Given the description of an element on the screen output the (x, y) to click on. 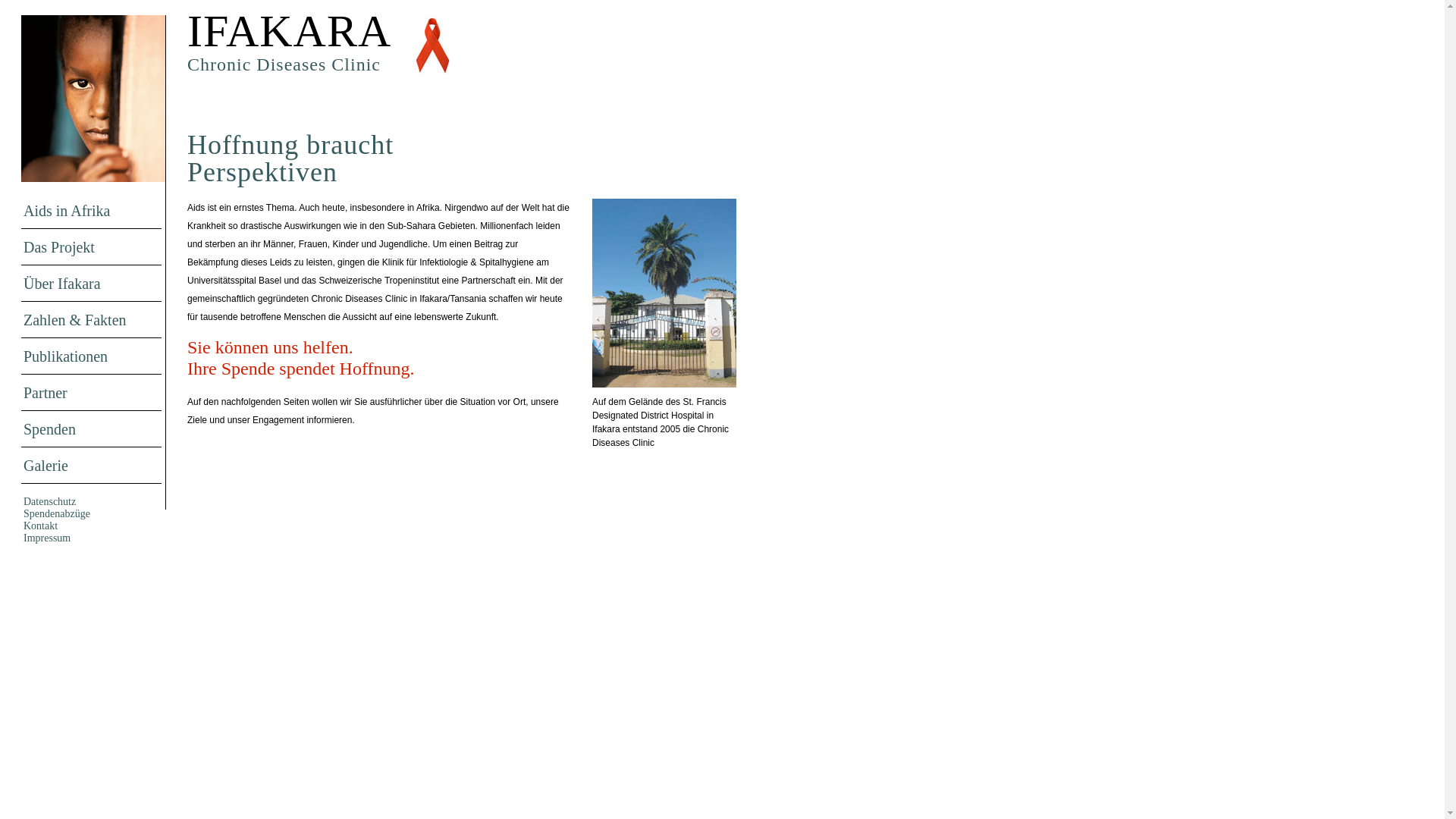
Spenden Element type: text (91, 429)
Home Element type: hover (93, 23)
Publikationen Element type: text (91, 356)
Impressum Element type: text (91, 538)
Partner Element type: text (91, 392)
Aids in Afrika Element type: text (91, 210)
Das Projekt Element type: text (91, 247)
Galerie Element type: text (91, 465)
IFAKARA
Chronic Diseases Clinic Element type: text (319, 48)
Zahlen & Fakten Element type: text (91, 319)
Kontakt Element type: text (91, 526)
Datenschutz Element type: text (91, 501)
